Given the description of an element on the screen output the (x, y) to click on. 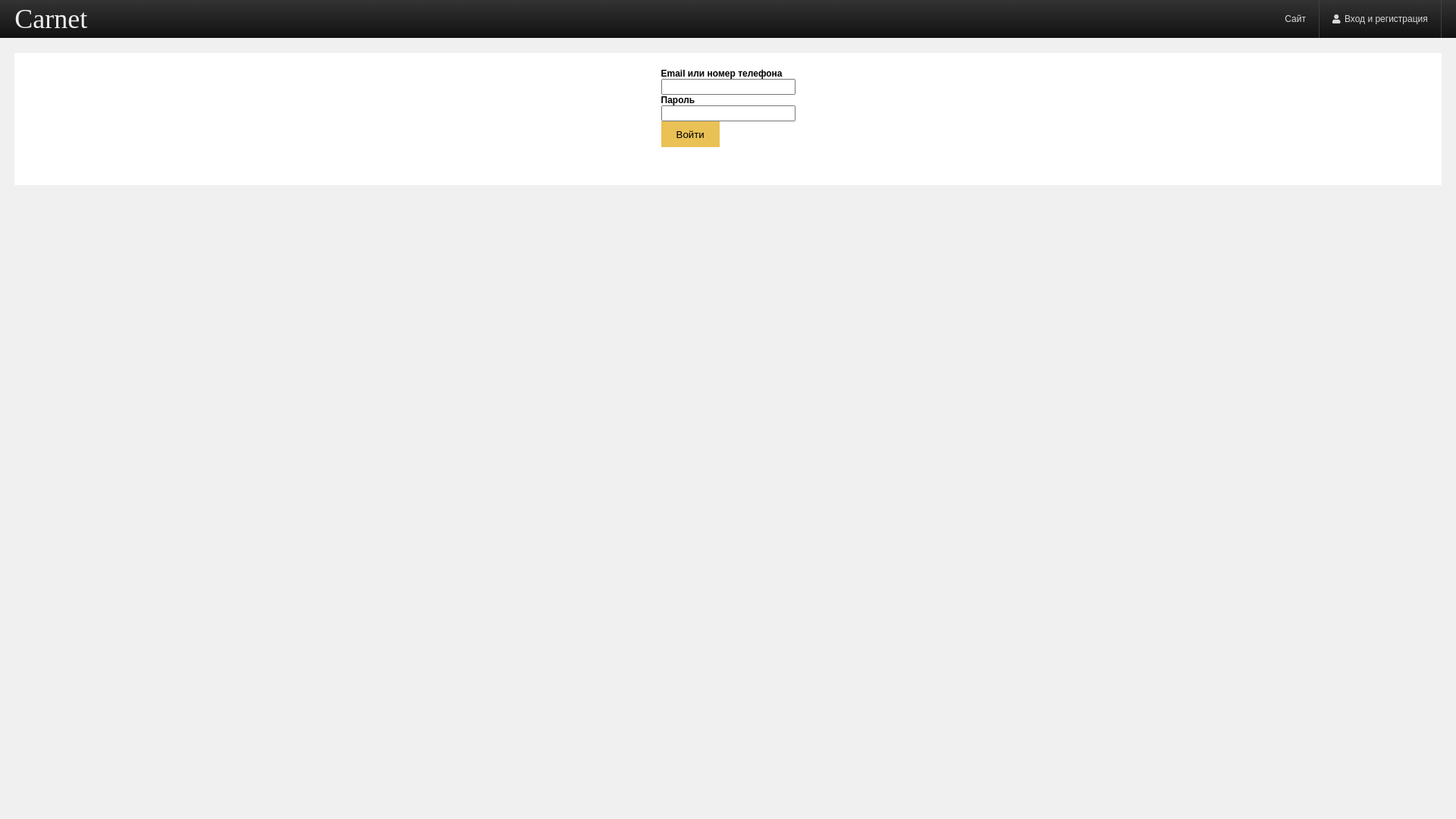
Carnet Element type: text (50, 18)
